Given the description of an element on the screen output the (x, y) to click on. 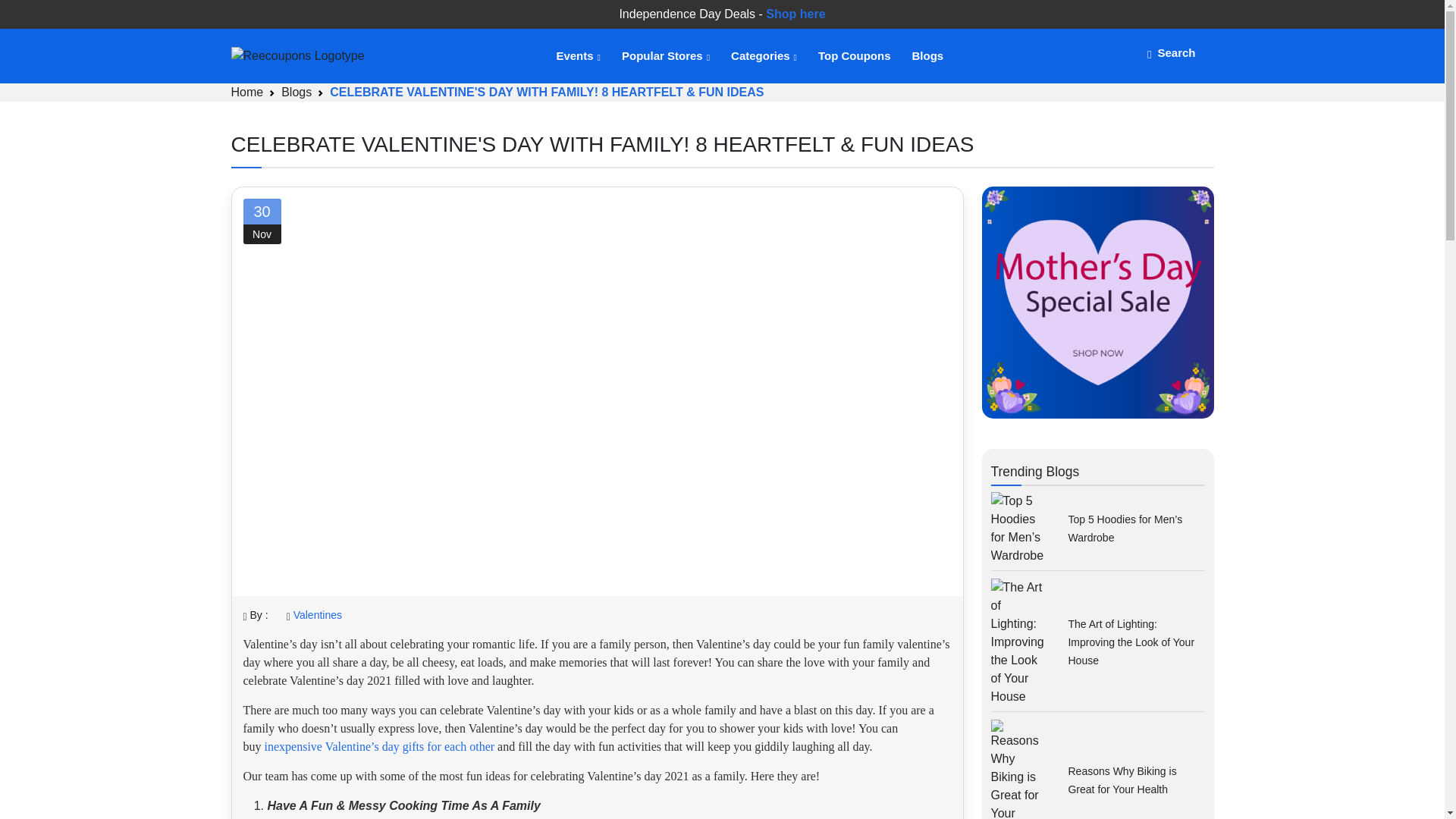
Search (1171, 51)
Blogs (296, 91)
Blogs (927, 56)
Categories (762, 56)
Valentines (318, 614)
Events (577, 56)
Top Coupons (853, 56)
Popular Stores (664, 56)
Home (246, 91)
Reasons Why Biking is Great for Your Health (1121, 779)
The Art of Lighting: Improving the Look of Your House (1130, 642)
